Given the description of an element on the screen output the (x, y) to click on. 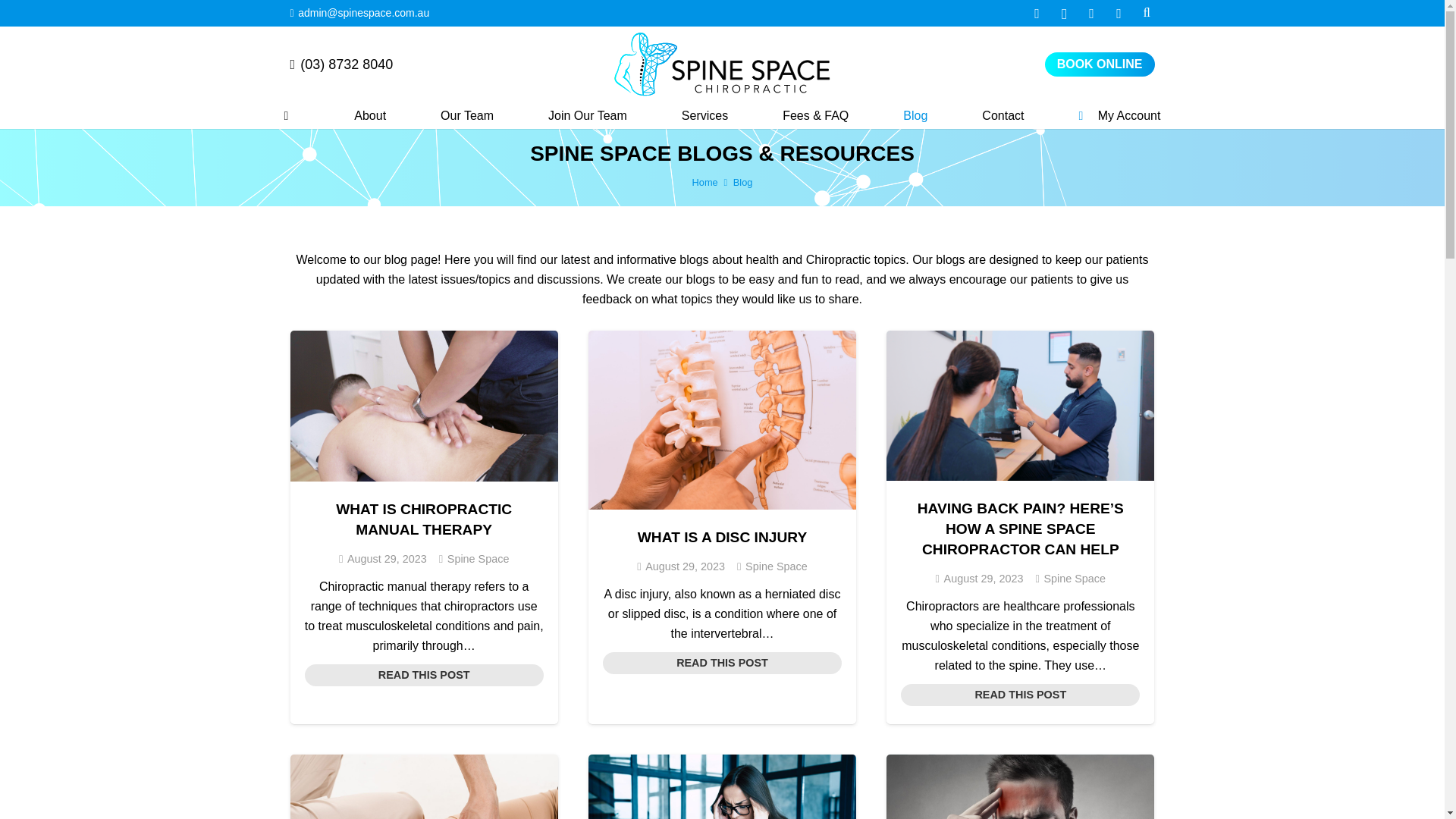
Contact (1002, 116)
Join Our Team (587, 116)
Our Team (466, 116)
Blog (914, 116)
Instagram (1064, 13)
About (369, 116)
Home (705, 182)
READ THIS POST (423, 675)
BOOK ONLINE (1099, 64)
WHAT IS CHIROPRACTIC MANUAL THERAPY (424, 519)
Blog (742, 182)
LinkedIn (1118, 13)
Spine Space (477, 558)
YouTube (1091, 13)
Services (704, 116)
